Given the description of an element on the screen output the (x, y) to click on. 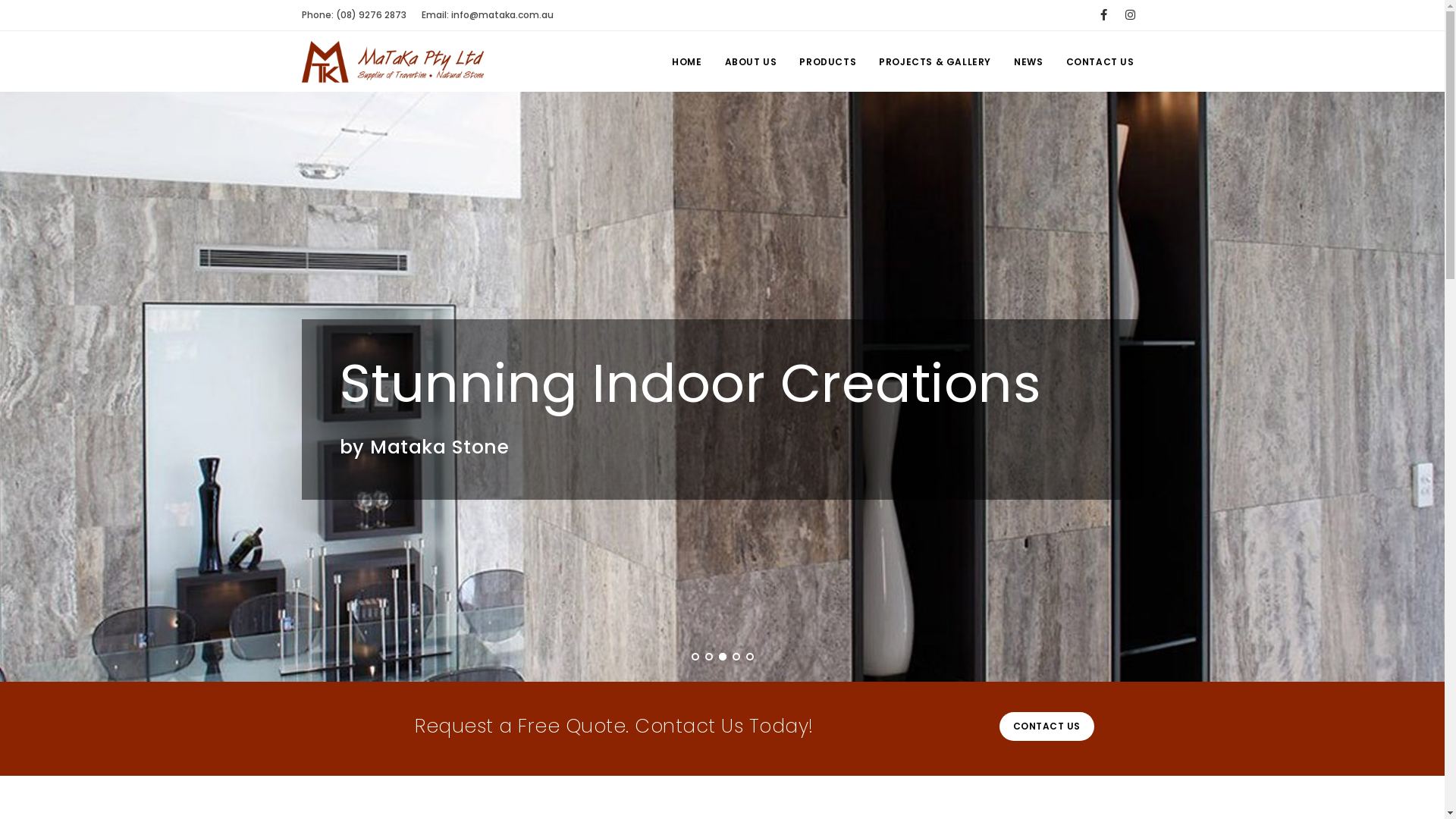
Phone: (08) 9276 2873 Element type: text (353, 15)
CONTACT US Element type: text (1046, 726)
Email: info@mataka.com.au Element type: text (487, 15)
PRODUCTS Element type: text (827, 61)
NEWS Element type: text (1027, 61)
PROJECTS & GALLERY Element type: text (934, 61)
ABOUT US Element type: text (750, 61)
HOME Element type: text (686, 61)
CONTACT US Element type: text (1100, 61)
